Given the description of an element on the screen output the (x, y) to click on. 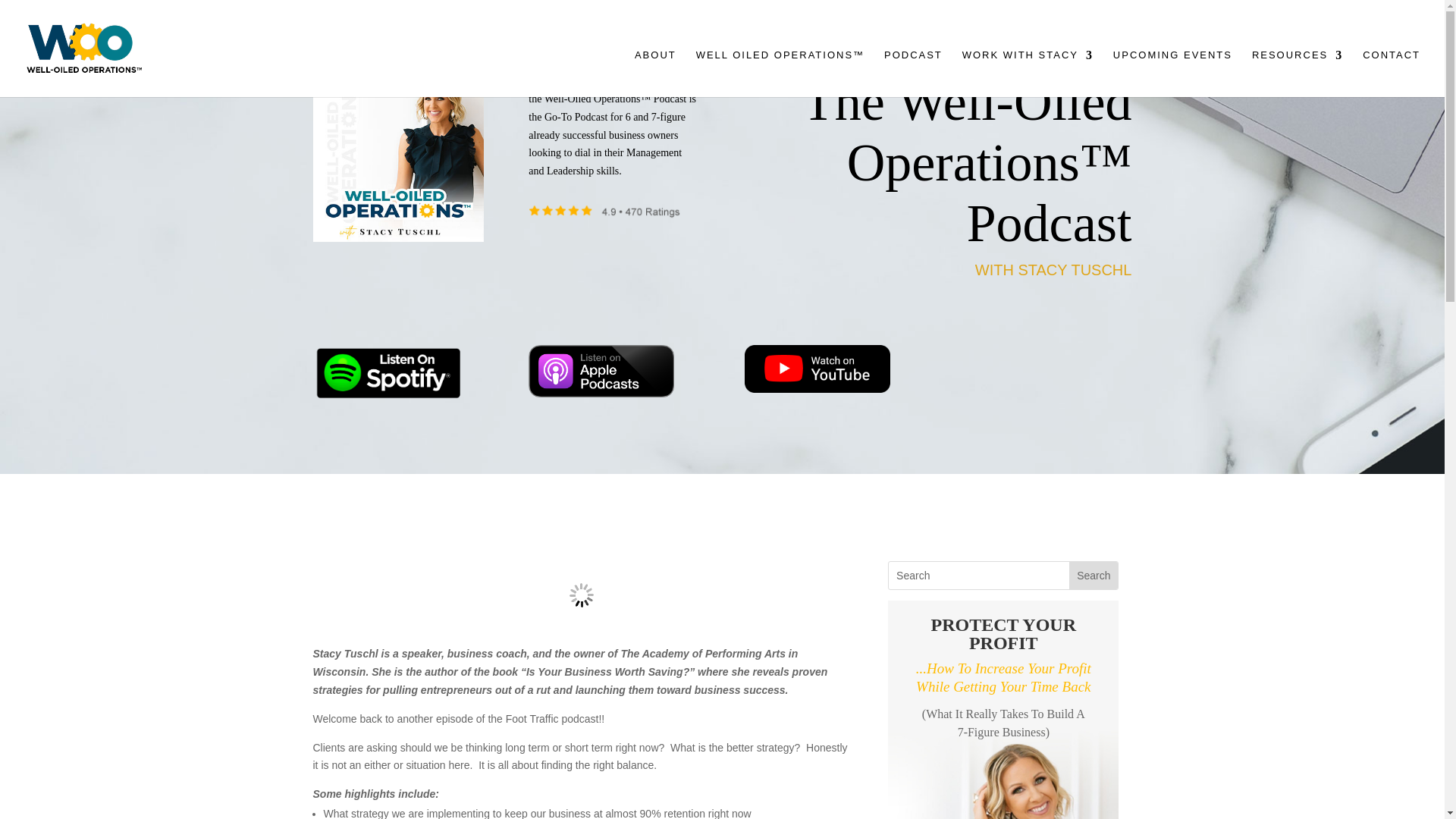
CONTACT (1391, 67)
Search (1093, 574)
UPCOMING EVENTS (1172, 67)
WORK WITH STACY (1027, 67)
Search (1093, 574)
ABOUT (655, 67)
RESOURCES (1297, 67)
Search (1093, 574)
PODCAST (912, 67)
